Given the description of an element on the screen output the (x, y) to click on. 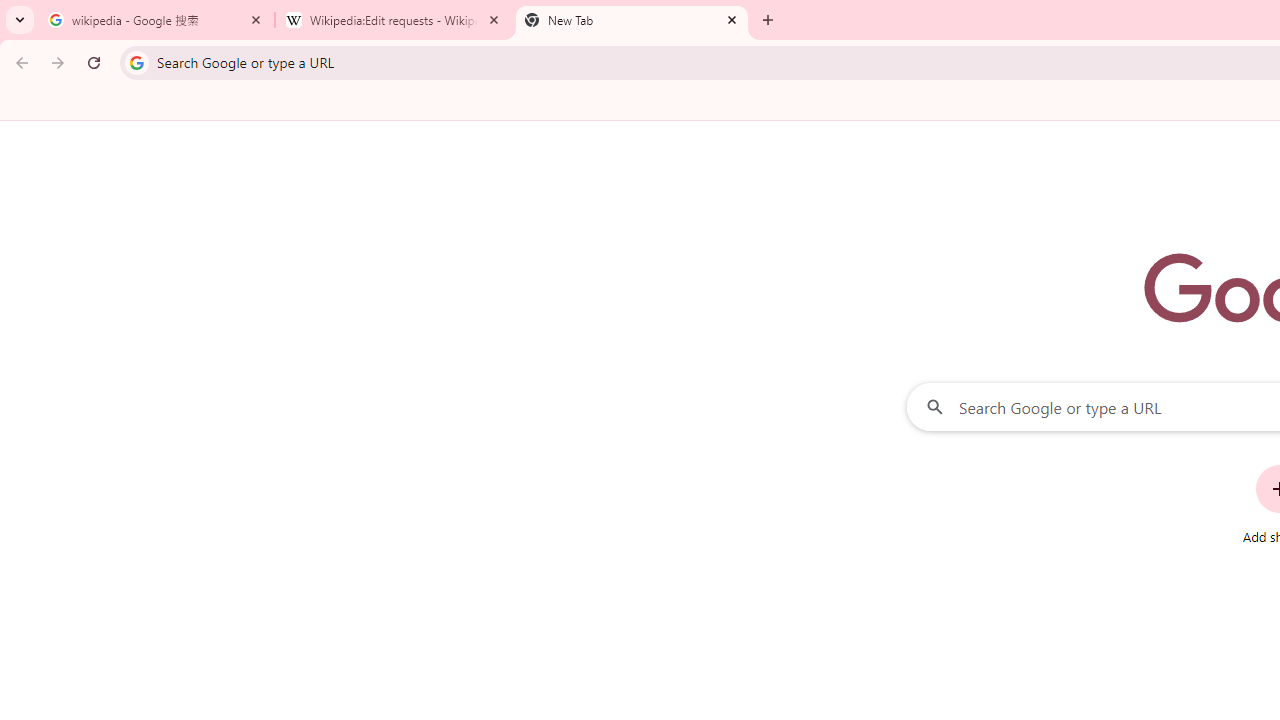
Search icon (136, 62)
Wikipedia:Edit requests - Wikipedia (394, 20)
New Tab (632, 20)
